Given the description of an element on the screen output the (x, y) to click on. 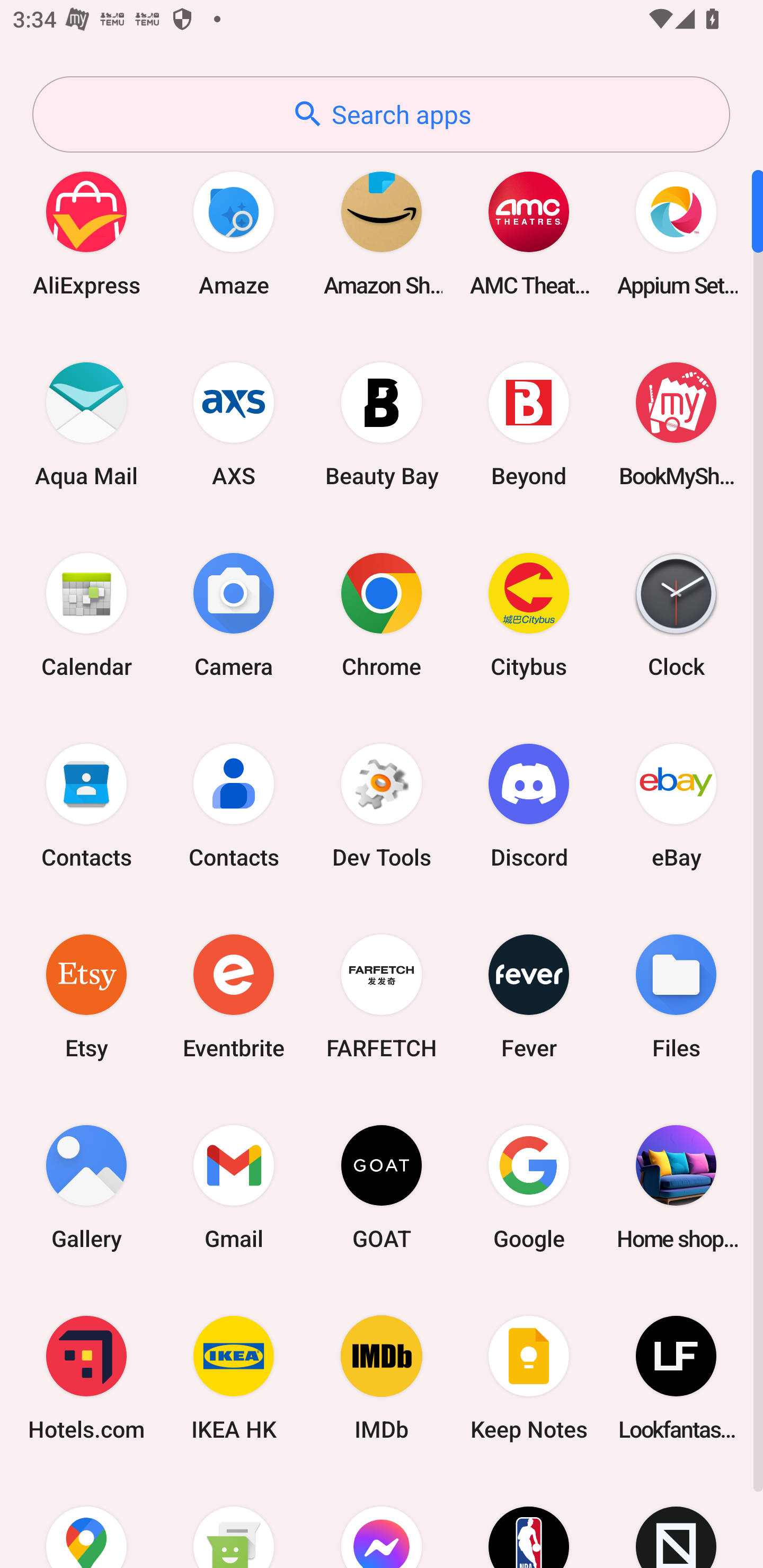
  Search apps (381, 114)
AliExpress (86, 233)
Amaze (233, 233)
Amazon Shopping (381, 233)
AMC Theatres (528, 233)
Appium Settings (676, 233)
Aqua Mail (86, 424)
AXS (233, 424)
Beauty Bay (381, 424)
Beyond (528, 424)
BookMyShow (676, 424)
Calendar (86, 614)
Camera (233, 614)
Chrome (381, 614)
Citybus (528, 614)
Clock (676, 614)
Contacts (86, 805)
Contacts (233, 805)
Dev Tools (381, 805)
Discord (528, 805)
eBay (676, 805)
Etsy (86, 996)
Eventbrite (233, 996)
FARFETCH (381, 996)
Fever (528, 996)
Files (676, 996)
Gallery (86, 1186)
Gmail (233, 1186)
GOAT (381, 1186)
Google (528, 1186)
Home shopping (676, 1186)
Hotels.com (86, 1377)
IKEA HK (233, 1377)
IMDb (381, 1377)
Keep Notes (528, 1377)
Lookfantastic (676, 1377)
